Given the description of an element on the screen output the (x, y) to click on. 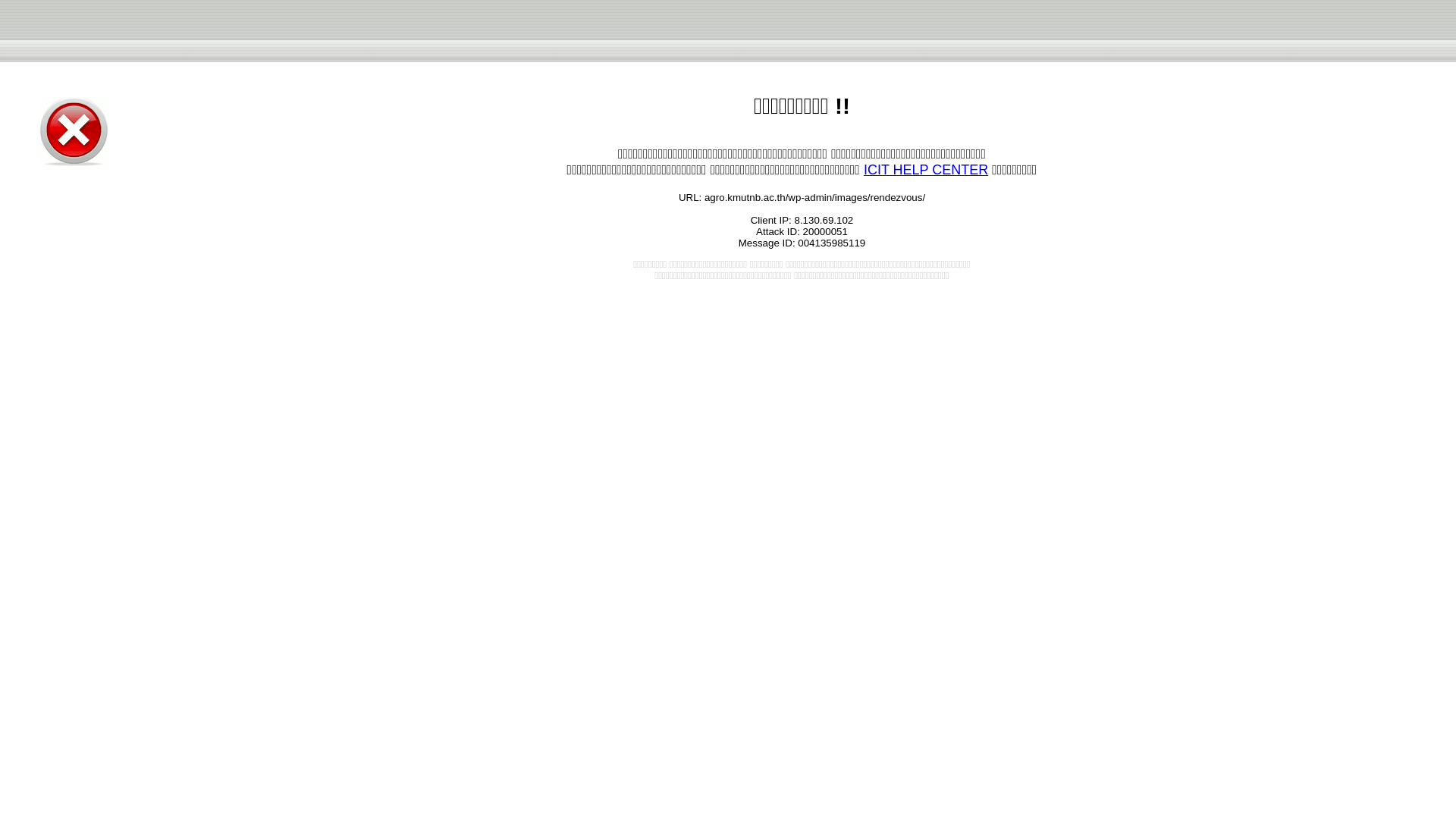
ICIT HELP CENTER (925, 169)
